Given the description of an element on the screen output the (x, y) to click on. 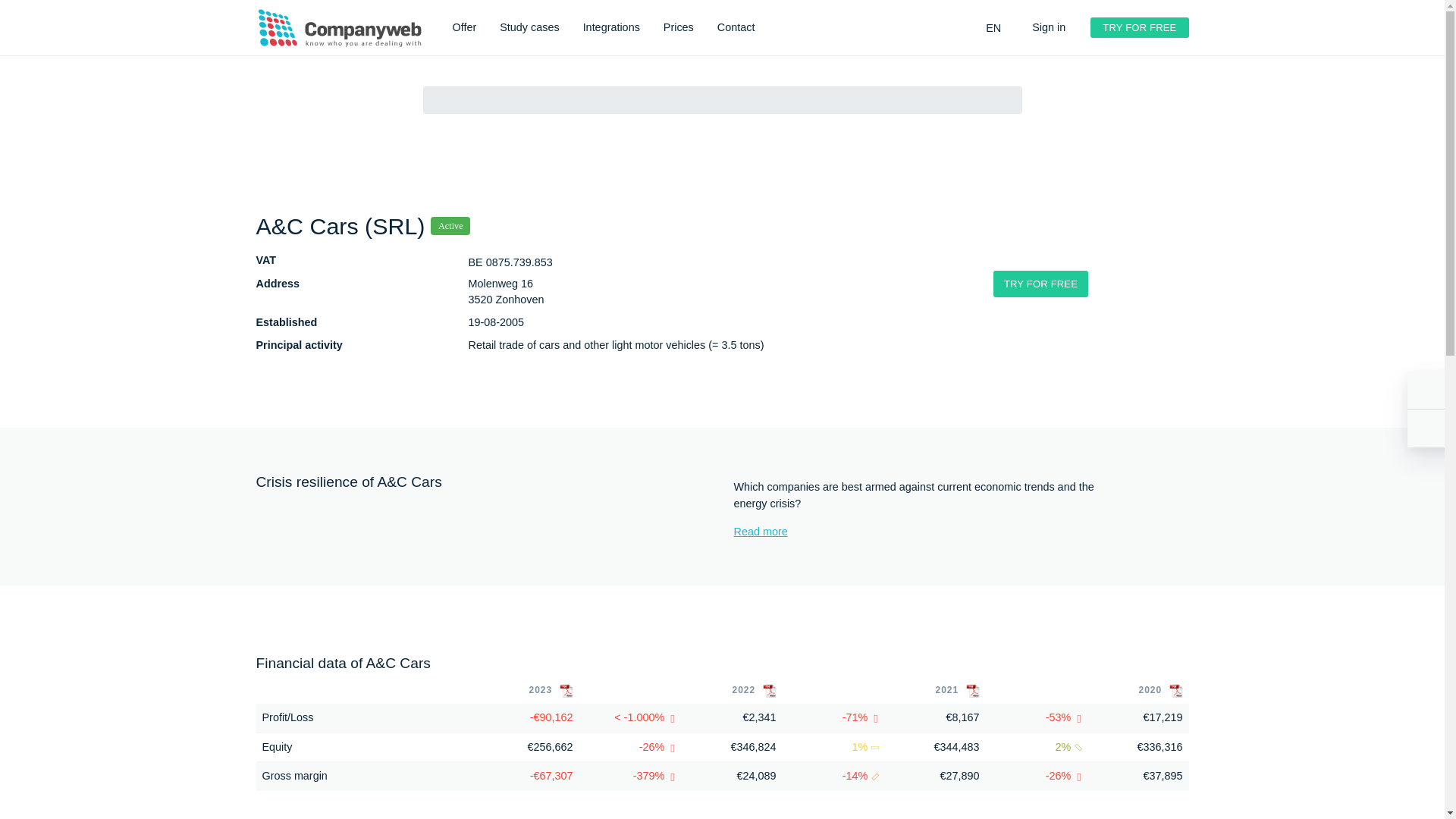
EN (990, 28)
TRY FOR FREE (1039, 284)
Study cases (528, 27)
Offer (463, 27)
Integrations (611, 27)
Contact (736, 27)
TRY FOR FREE (1139, 27)
Sign in (1045, 27)
Read more (921, 532)
Prices (679, 27)
